Given the description of an element on the screen output the (x, y) to click on. 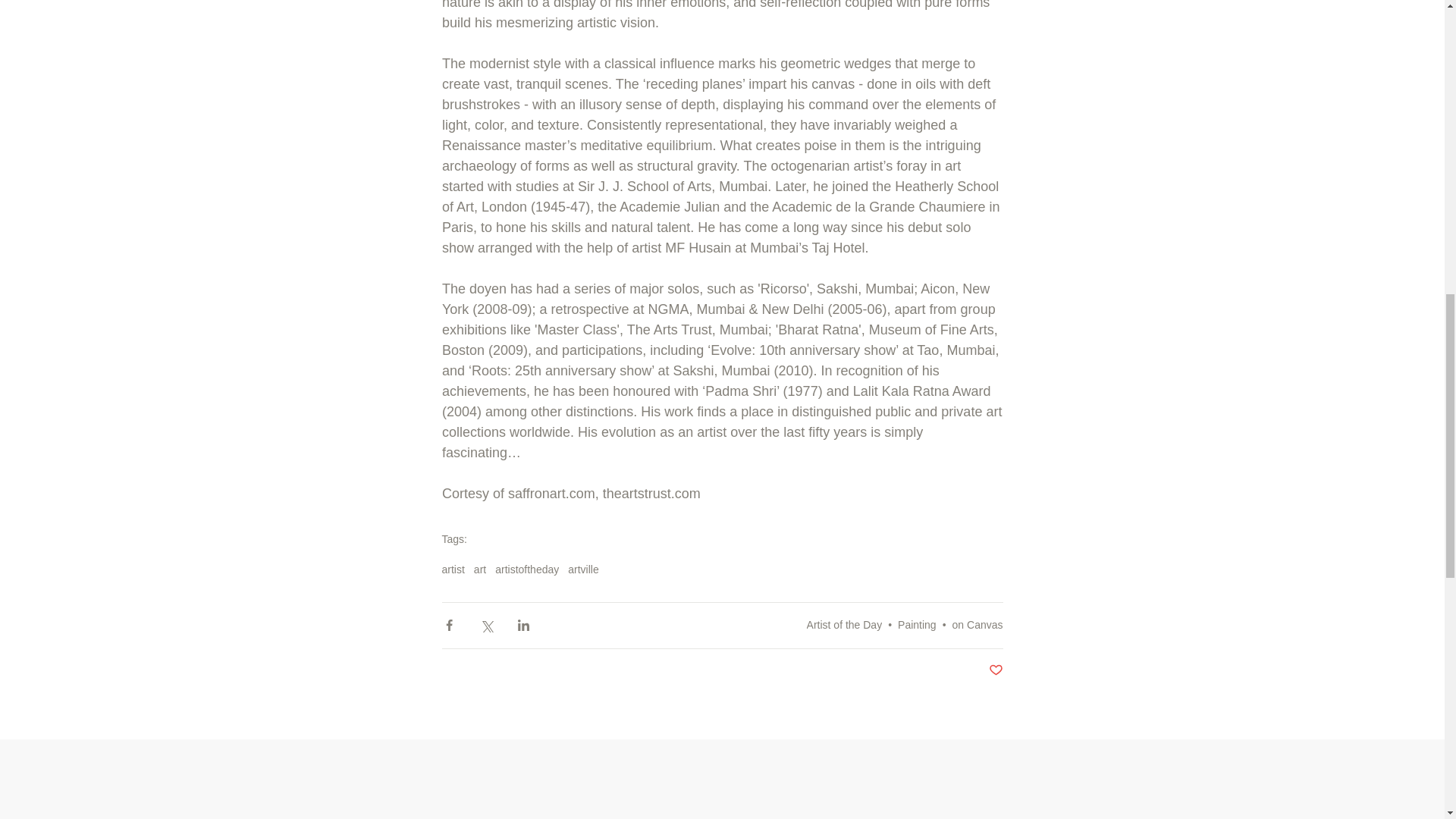
Painting (917, 624)
art (480, 569)
artist (452, 569)
Post not marked as liked (995, 670)
on Canvas (977, 624)
artistoftheday (527, 569)
artville (582, 569)
Artist of the Day (844, 624)
